Given the description of an element on the screen output the (x, y) to click on. 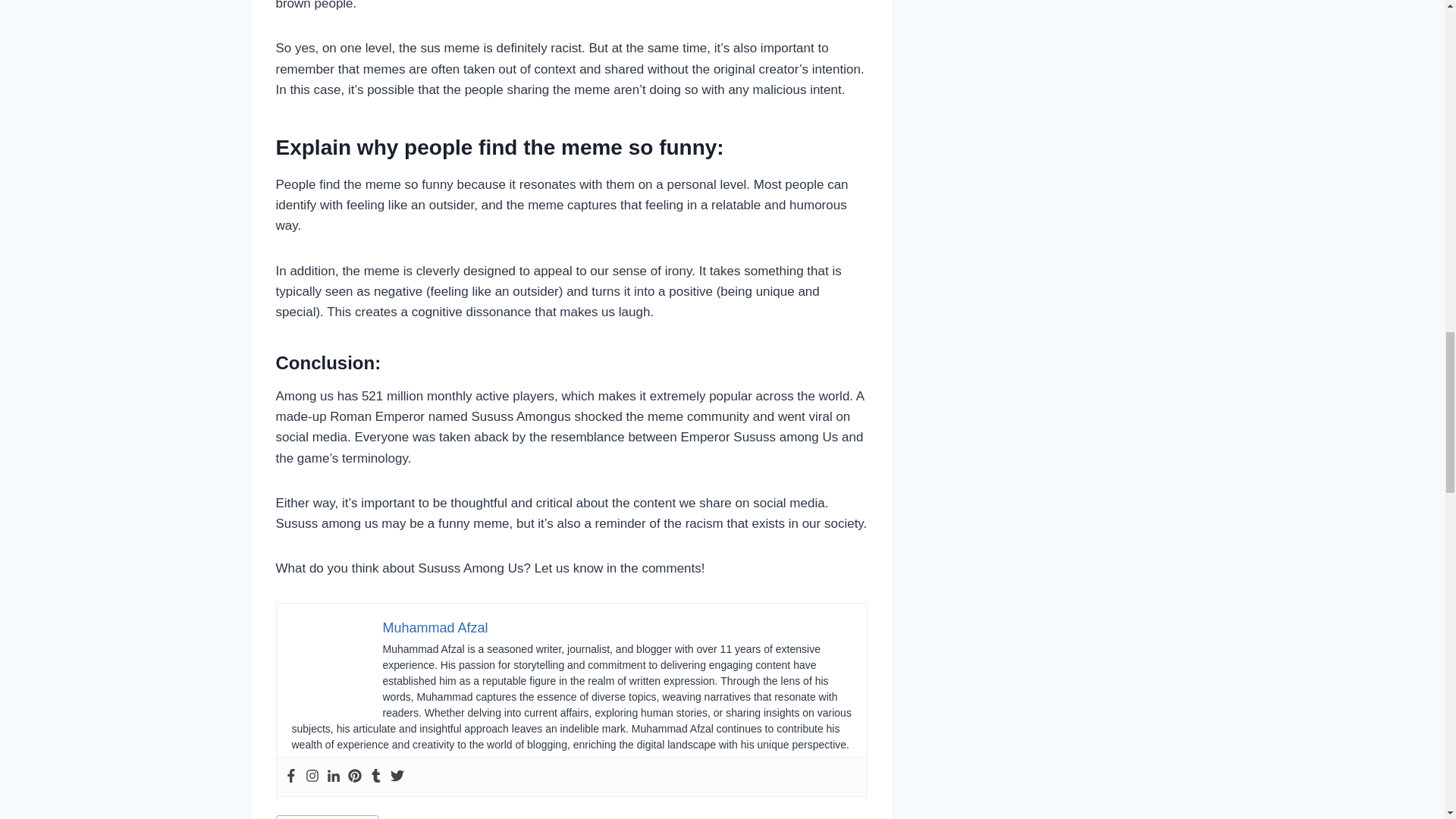
Muhammad Afzal (434, 627)
Sususs Among Us (328, 816)
